Given the description of an element on the screen output the (x, y) to click on. 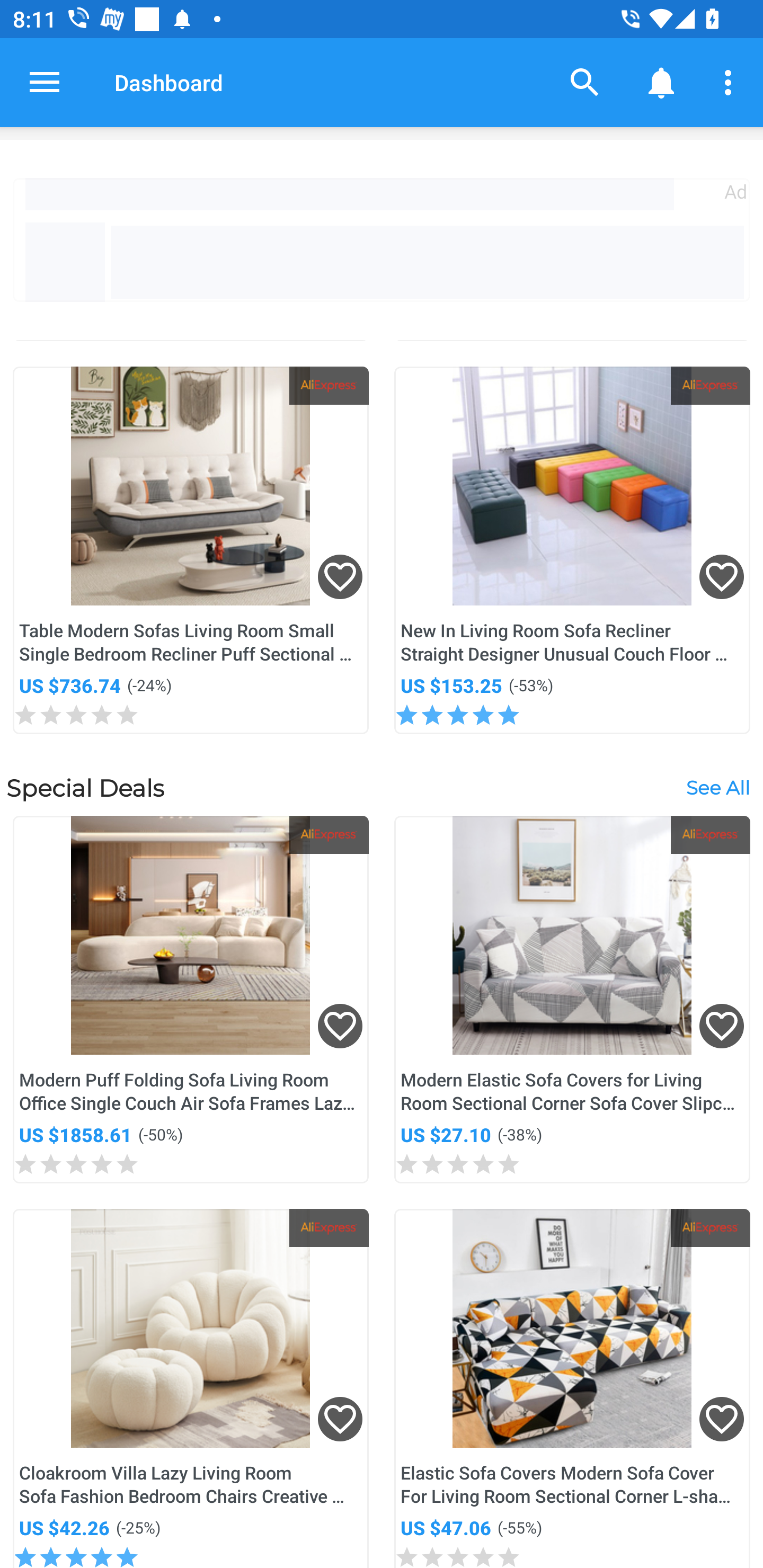
Open navigation drawer (44, 82)
Search (585, 81)
More options (731, 81)
See All (717, 786)
